Given the description of an element on the screen output the (x, y) to click on. 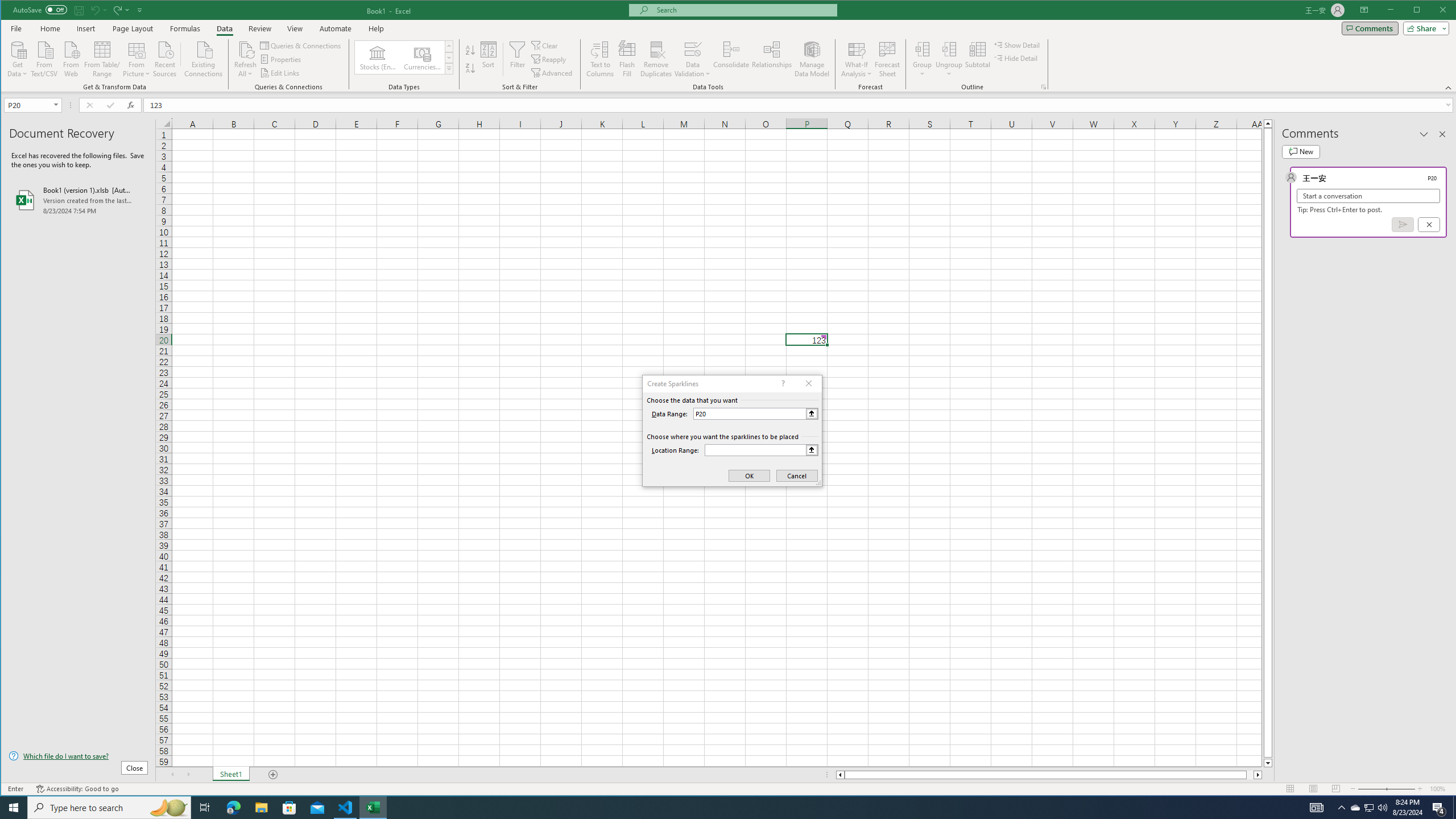
Clear (545, 45)
Show Detail (1017, 44)
Hide Detail (1016, 57)
Cancel (1428, 224)
From Web (70, 57)
Post comment (Ctrl + Enter) (1402, 224)
Remove Duplicates (655, 59)
